Given the description of an element on the screen output the (x, y) to click on. 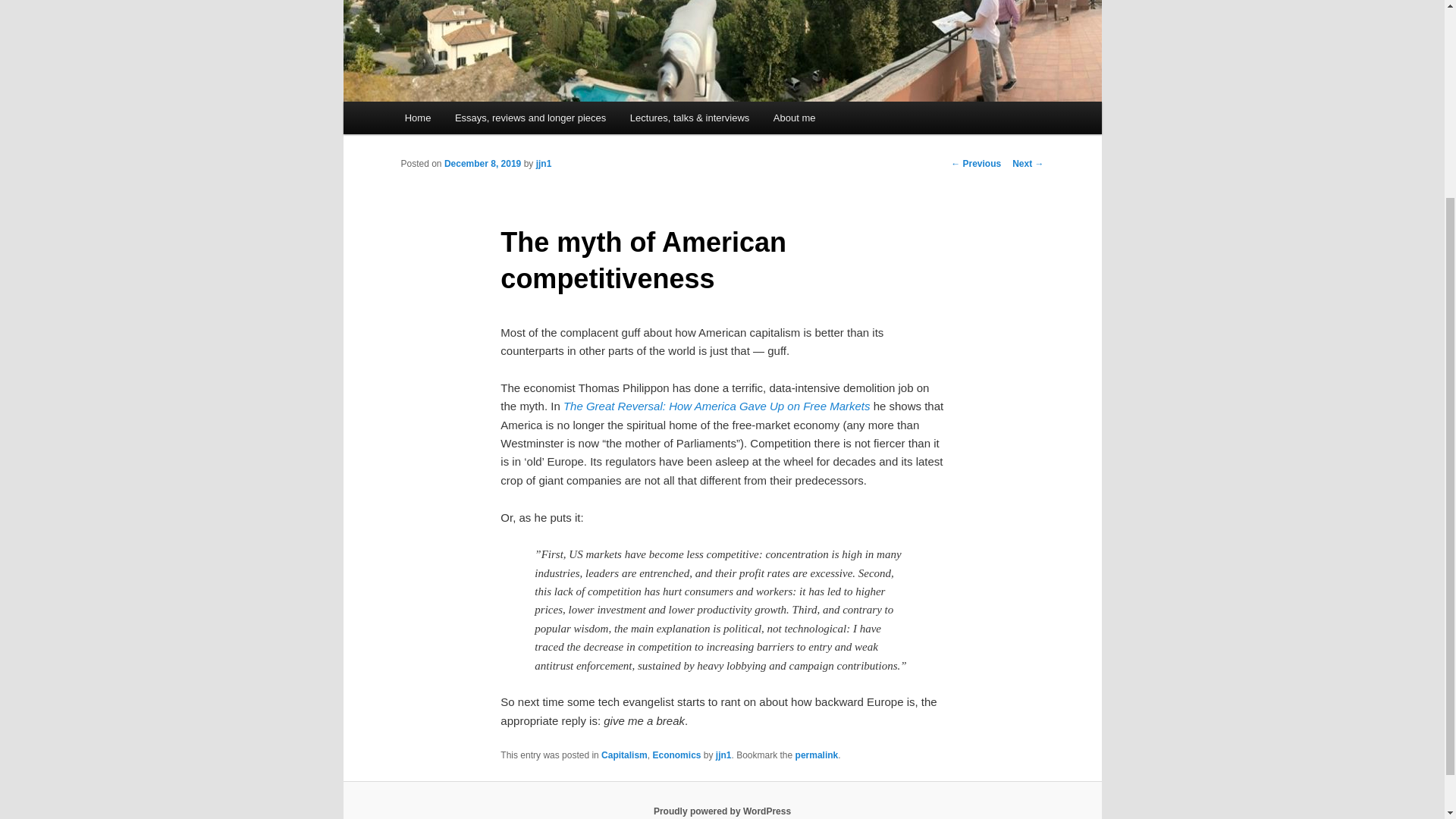
permalink (816, 755)
Capitalism (624, 755)
Home (417, 117)
Proudly powered by WordPress (721, 810)
jjn1 (724, 755)
The Great Reversal: How America Gave Up on Free Markets (716, 405)
Economics (676, 755)
Essays, reviews and longer pieces (529, 117)
jjn1 (543, 163)
December 8, 2019 (482, 163)
Semantic Personal Publishing Platform (721, 810)
About me (794, 117)
